Given the description of an element on the screen output the (x, y) to click on. 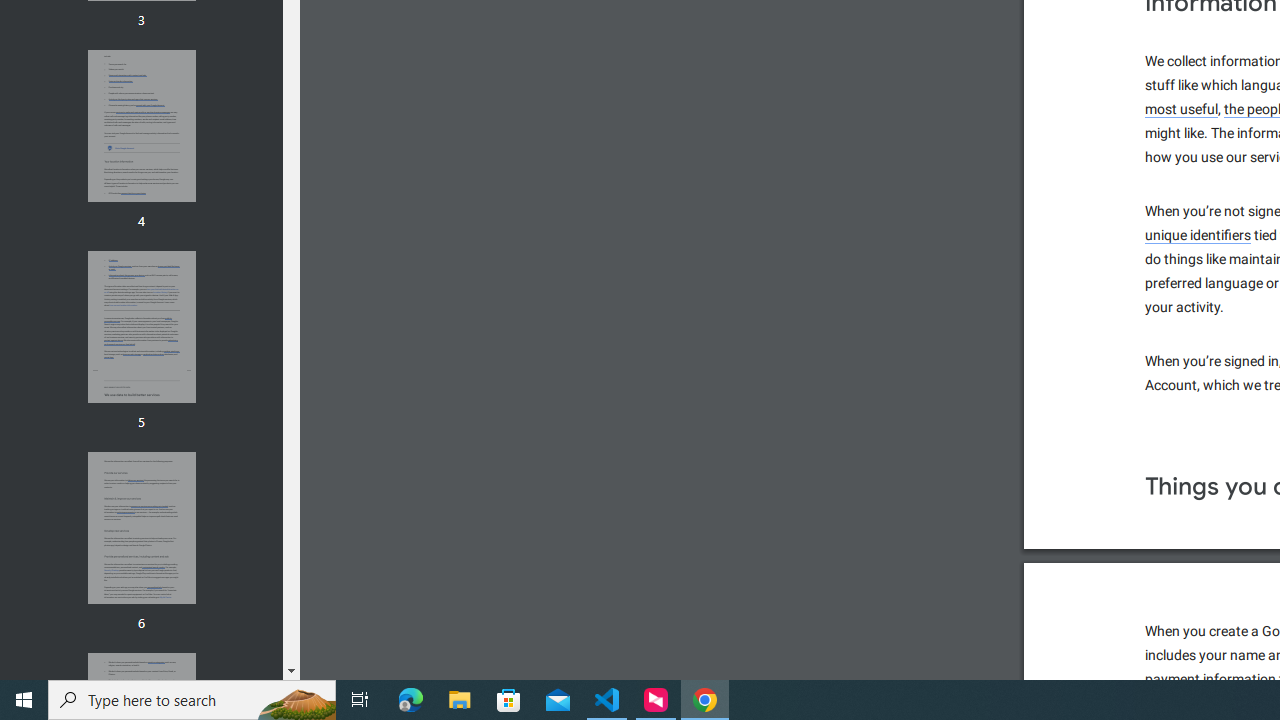
Thumbnail for page 5 (141, 326)
Thumbnail for page 4 (141, 125)
payment information (1211, 680)
AutomationID: thumbnail (141, 528)
Thumbnail for page 6 (141, 528)
unique identifiers (1181, 109)
